Given the description of an element on the screen output the (x, y) to click on. 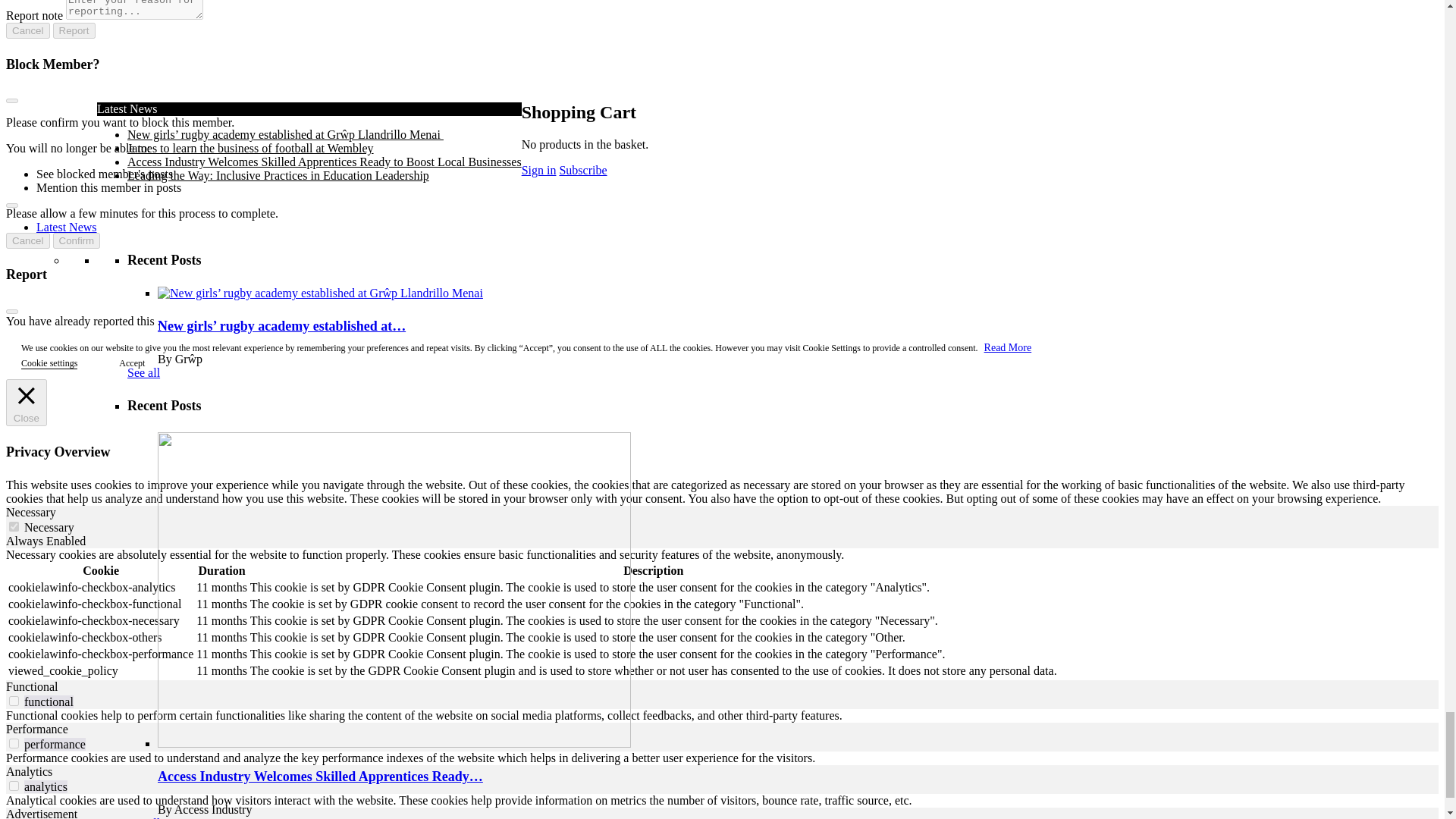
on (13, 700)
Cancel (27, 30)
on (13, 743)
Cancel (27, 240)
on (13, 786)
on (13, 526)
